Given the description of an element on the screen output the (x, y) to click on. 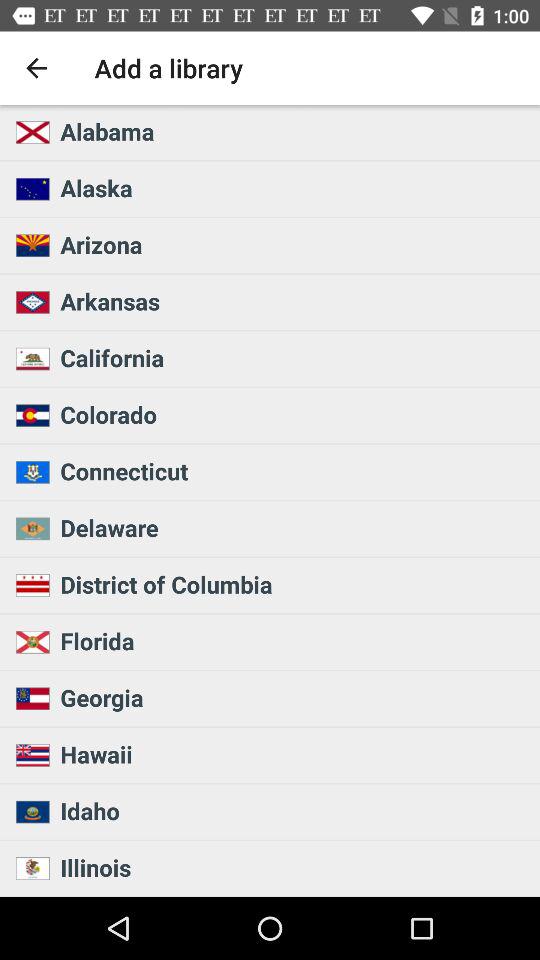
turn on the icon above connecticut icon (294, 414)
